Given the description of an element on the screen output the (x, y) to click on. 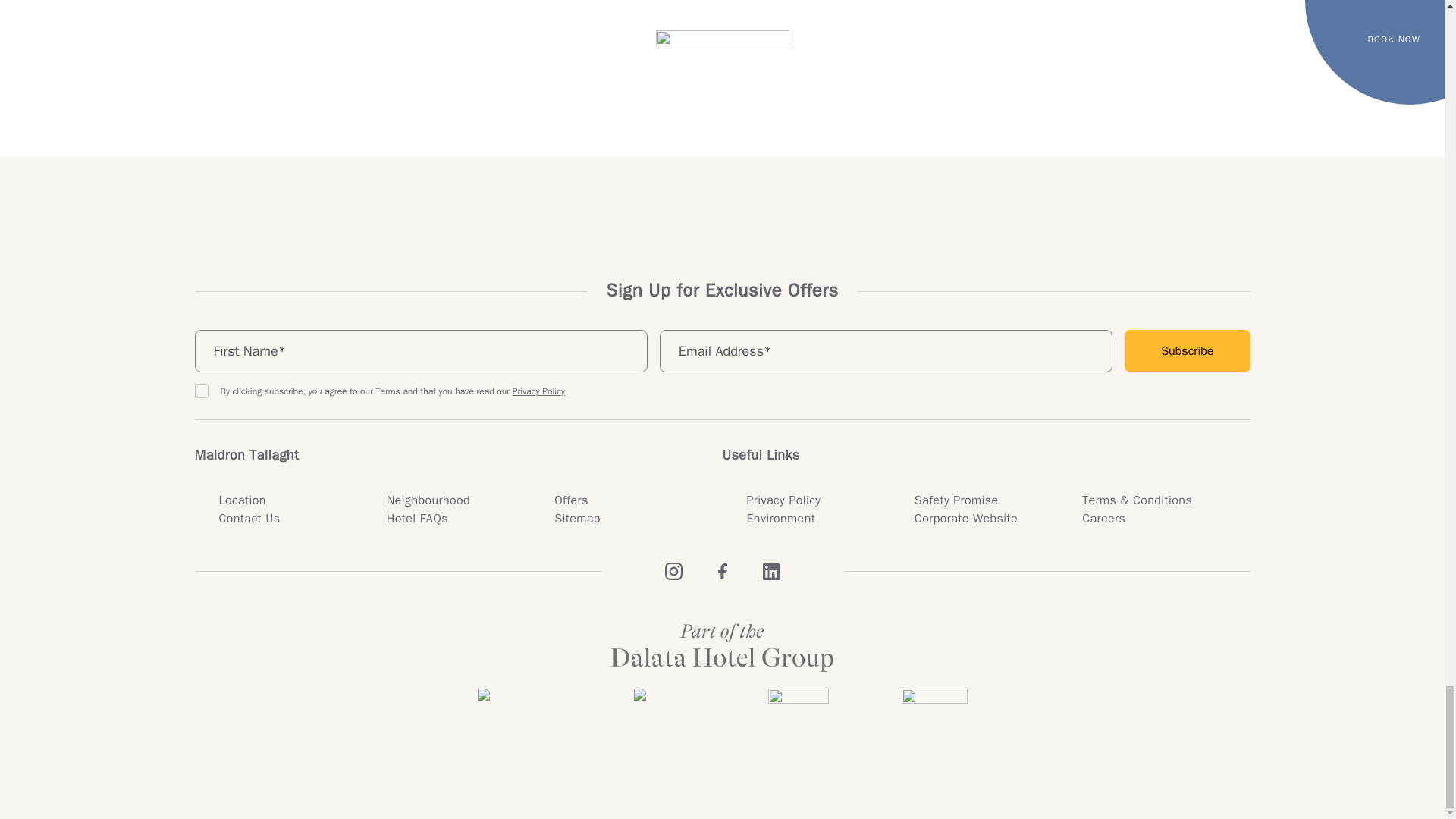
LinkedIn (770, 571)
Instagram (673, 571)
Maldron Hotels  (518, 710)
Clayton Hotels (664, 710)
Subscribe (1186, 351)
terms (200, 391)
The Samuel  (933, 710)
Facebook (721, 571)
The Gibson  (797, 710)
